Given the description of an element on the screen output the (x, y) to click on. 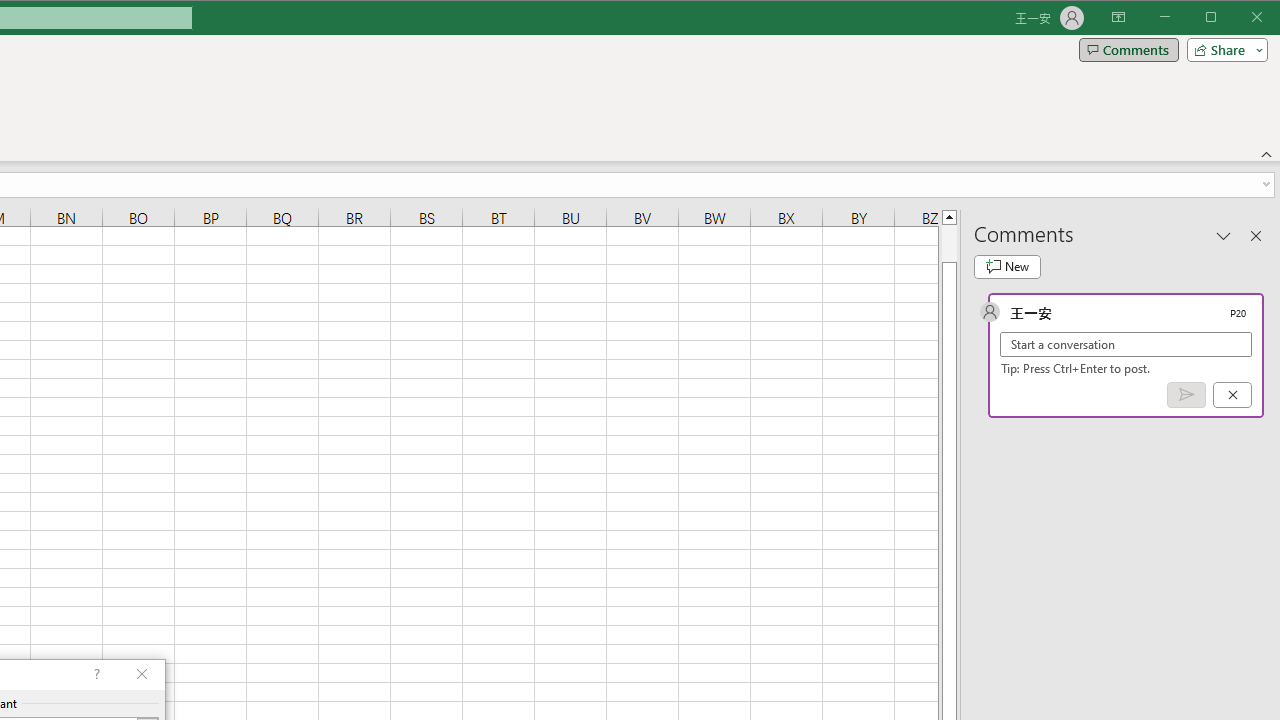
Page up (948, 243)
Start a conversation (1126, 344)
Post comment (Ctrl + Enter) (1186, 395)
New comment (1007, 266)
